Given the description of an element on the screen output the (x, y) to click on. 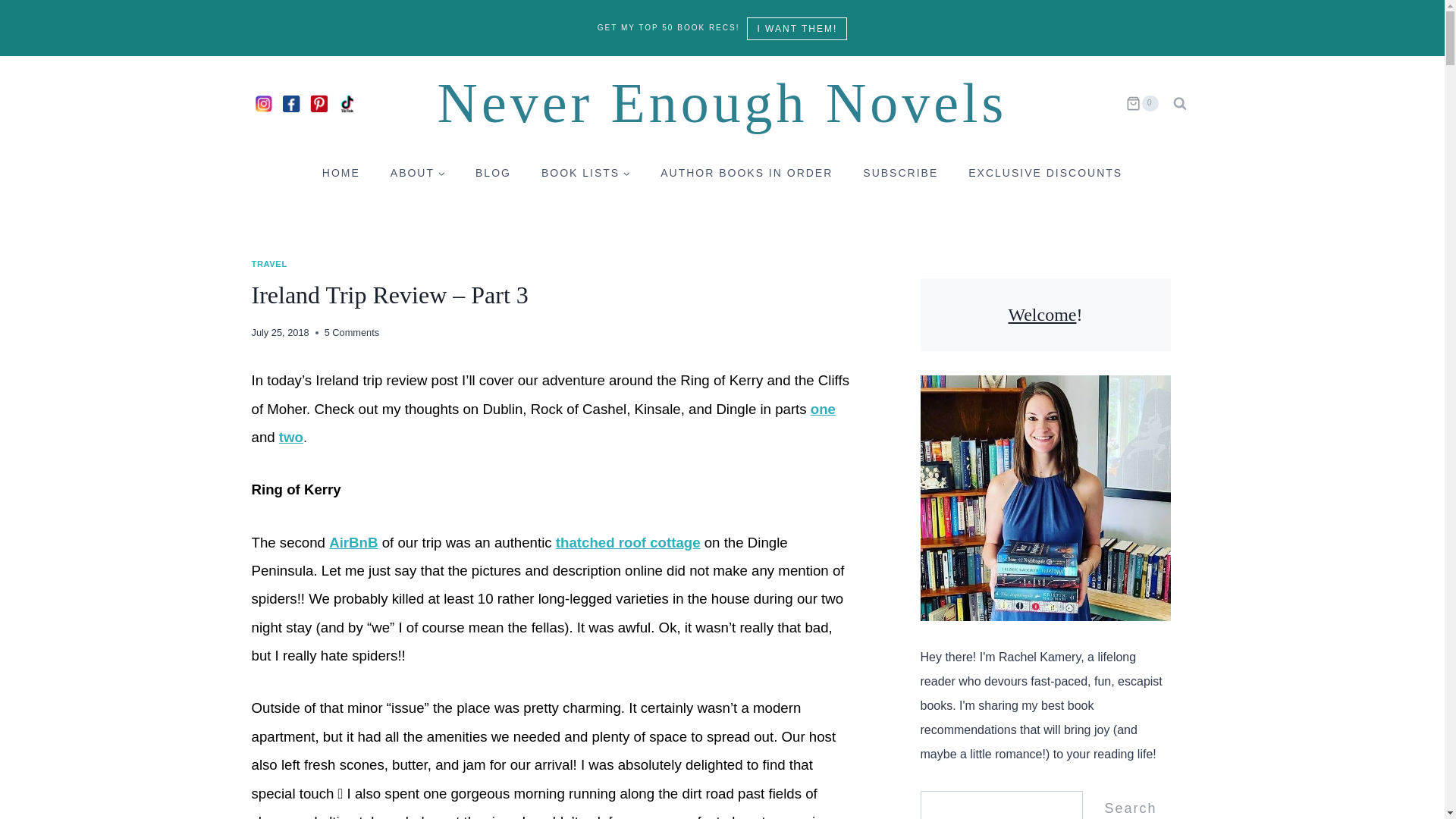
5 Comments (352, 332)
AUTHOR BOOKS IN ORDER (746, 172)
5 Comments (352, 332)
0 (1141, 103)
Never Enough Novels (722, 103)
one (822, 408)
EXCLUSIVE DISCOUNTS (1045, 172)
BOOK LISTS (585, 172)
SUBSCRIBE (900, 172)
TRAVEL (268, 263)
